Given the description of an element on the screen output the (x, y) to click on. 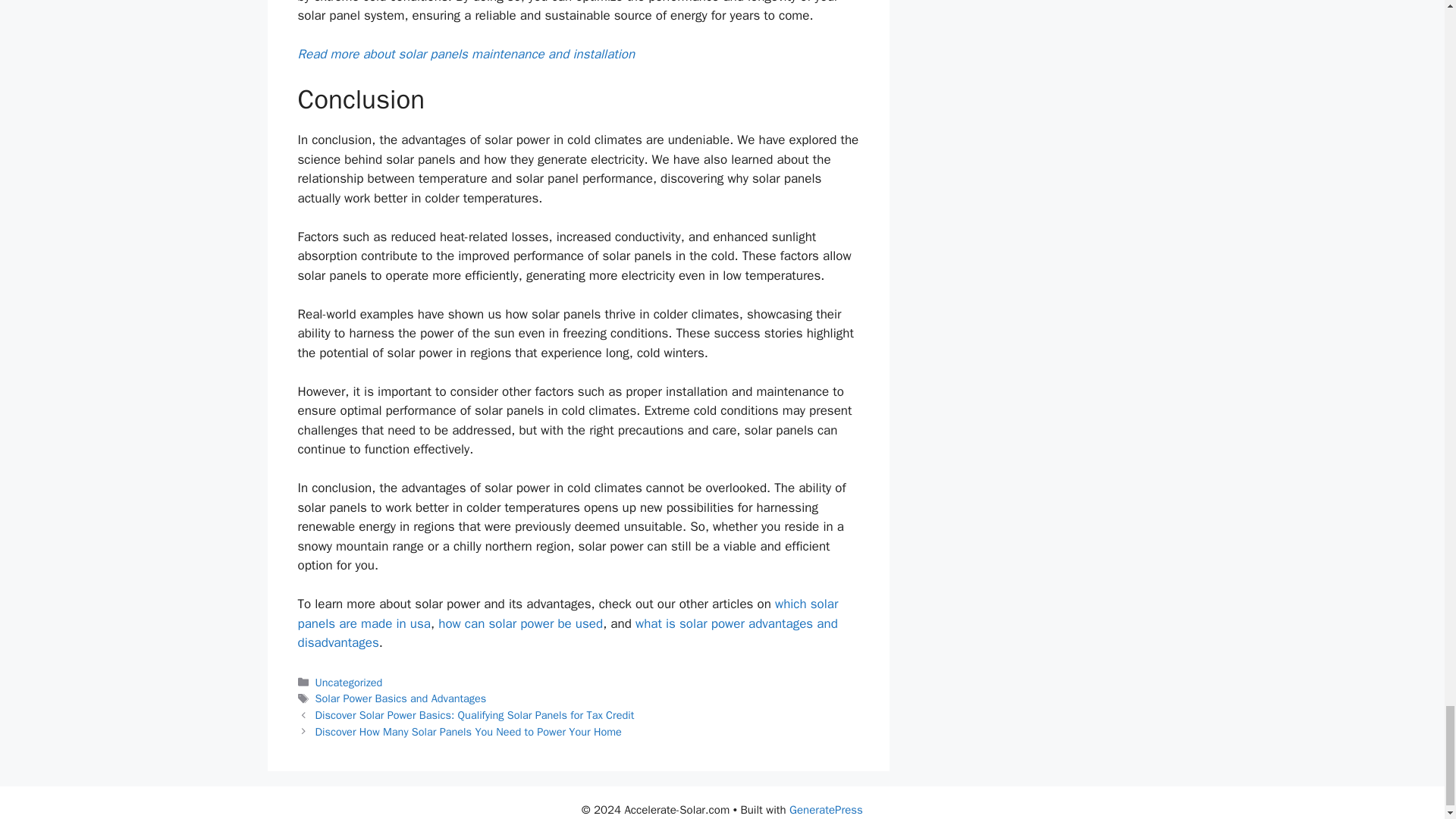
Discover How Many Solar Panels You Need to Power Your Home (468, 731)
Read more about solar panels maintenance and installation (465, 53)
which solar panels are made in usa (567, 613)
Uncategorized (348, 682)
what is solar power advantages and disadvantages (567, 633)
Solar Power Basics and Advantages (400, 698)
how can solar power be used (520, 623)
GeneratePress (826, 808)
